Given the description of an element on the screen output the (x, y) to click on. 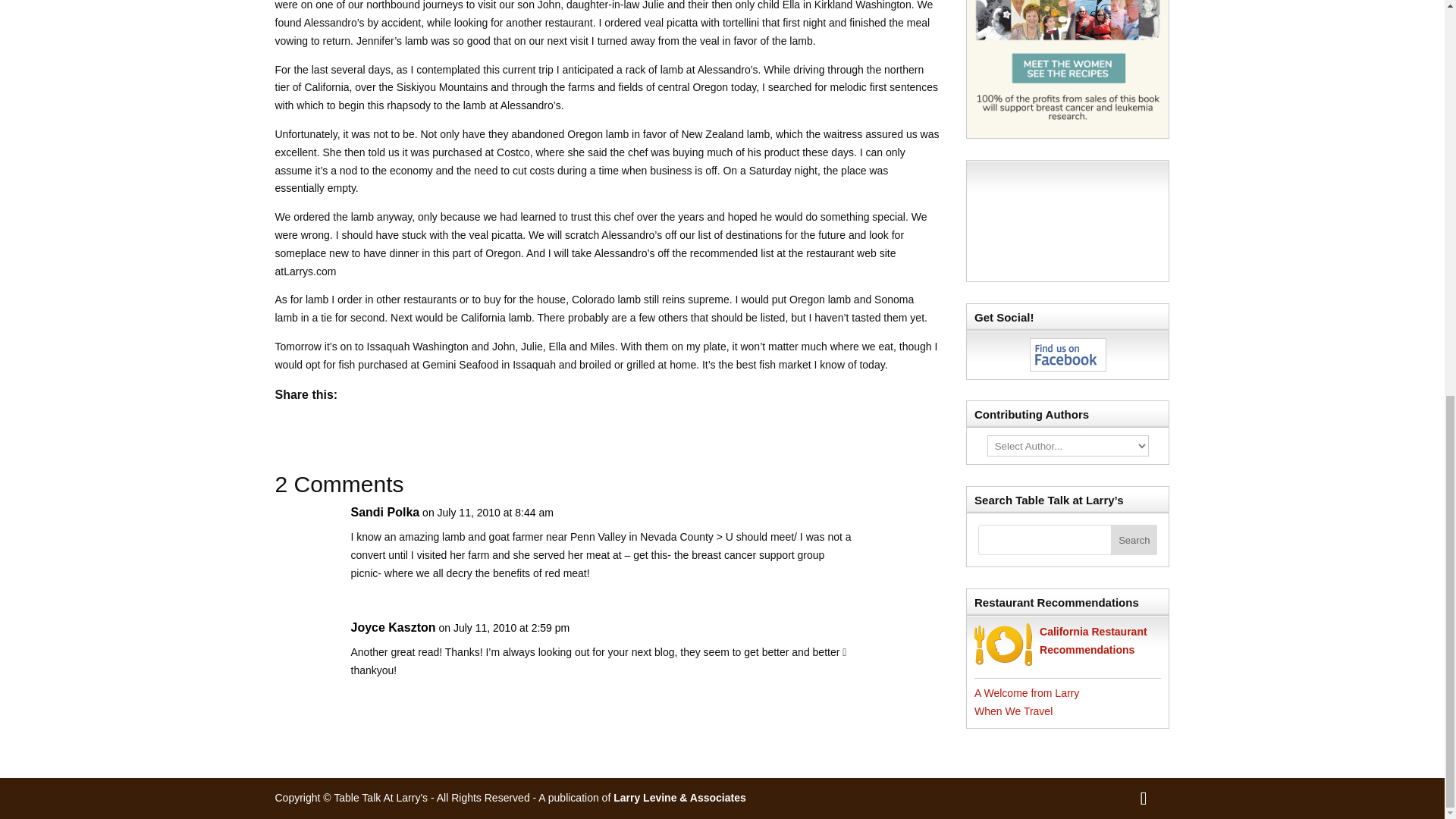
Joyce Kaszton (392, 628)
Search (1133, 539)
California Restaurant Recommendations (1093, 640)
Search (1133, 539)
When We Travel (1013, 711)
A Welcome from Larry (1026, 693)
